Given the description of an element on the screen output the (x, y) to click on. 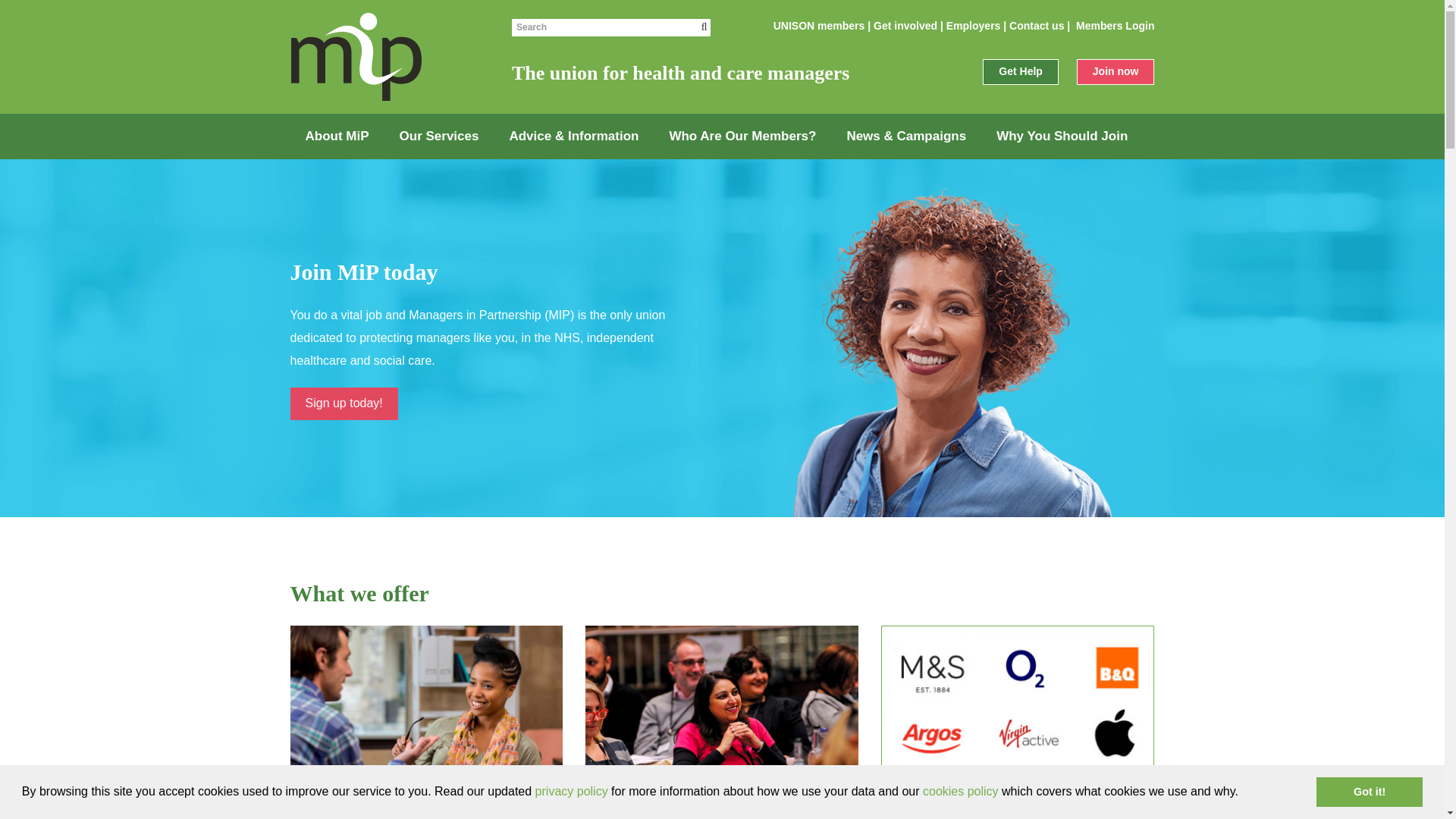
Join now (1115, 71)
About MiP (336, 135)
privacy policy (571, 790)
UNISON members (818, 26)
KS-WhatWeOffer2 (722, 702)
Get Help (1020, 71)
discounts-small3 (1017, 702)
Employers (973, 26)
cookies policy (960, 790)
KS-WhatWeOffer1 (425, 702)
Our Services (439, 135)
Members Login (1114, 26)
Contact us (1036, 26)
Get involved (905, 26)
